Given the description of an element on the screen output the (x, y) to click on. 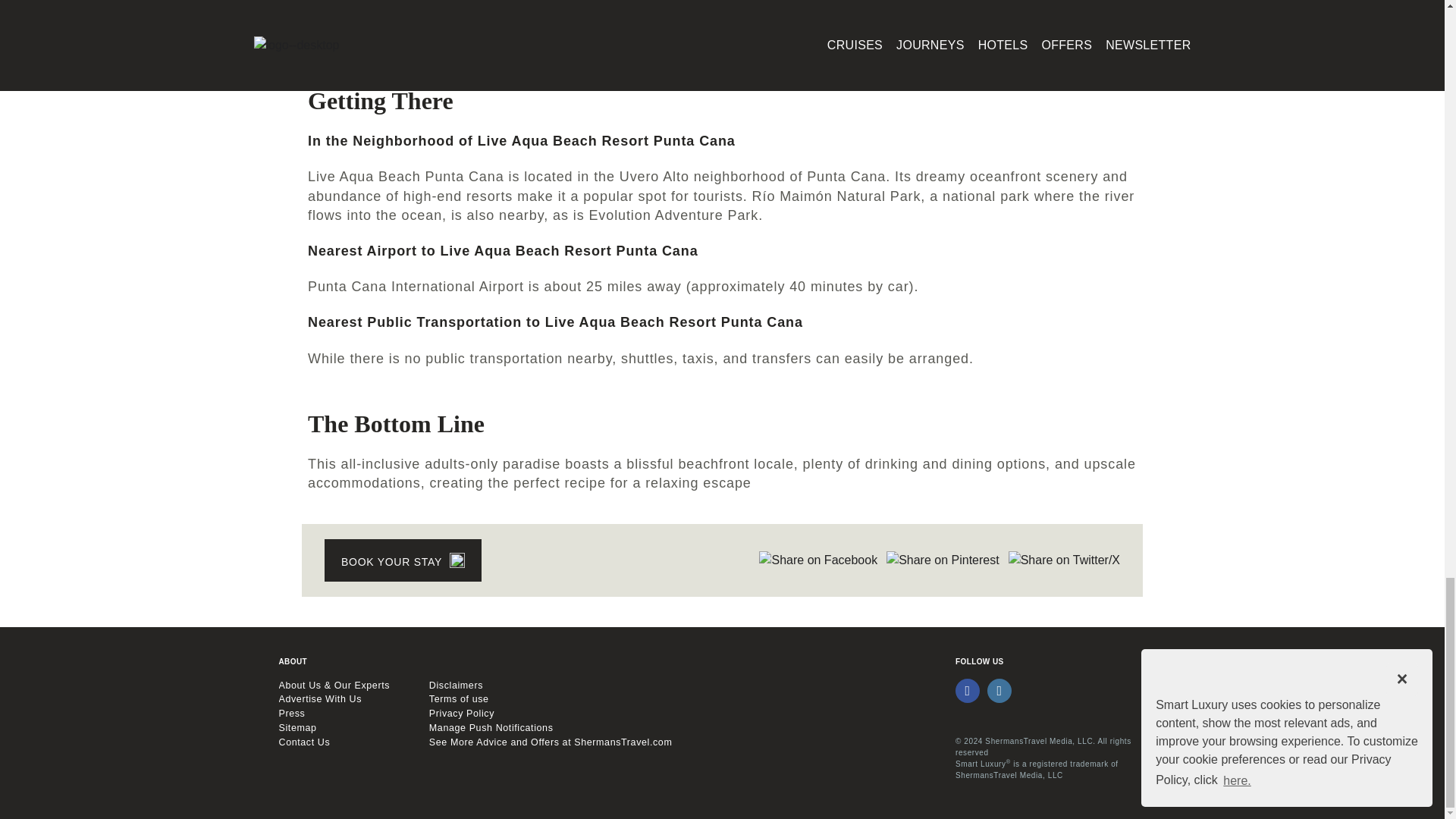
Terms of use (684, 699)
Disclaimers (684, 685)
Sitemap (346, 728)
See More Advice and Offers at ShermansTravel.com (684, 742)
Contact Us (346, 742)
BOOK YOUR STAY (402, 559)
Advertise With Us (346, 699)
Privacy Policy (684, 713)
Press (346, 713)
Manage Push Notifications (684, 728)
